Given the description of an element on the screen output the (x, y) to click on. 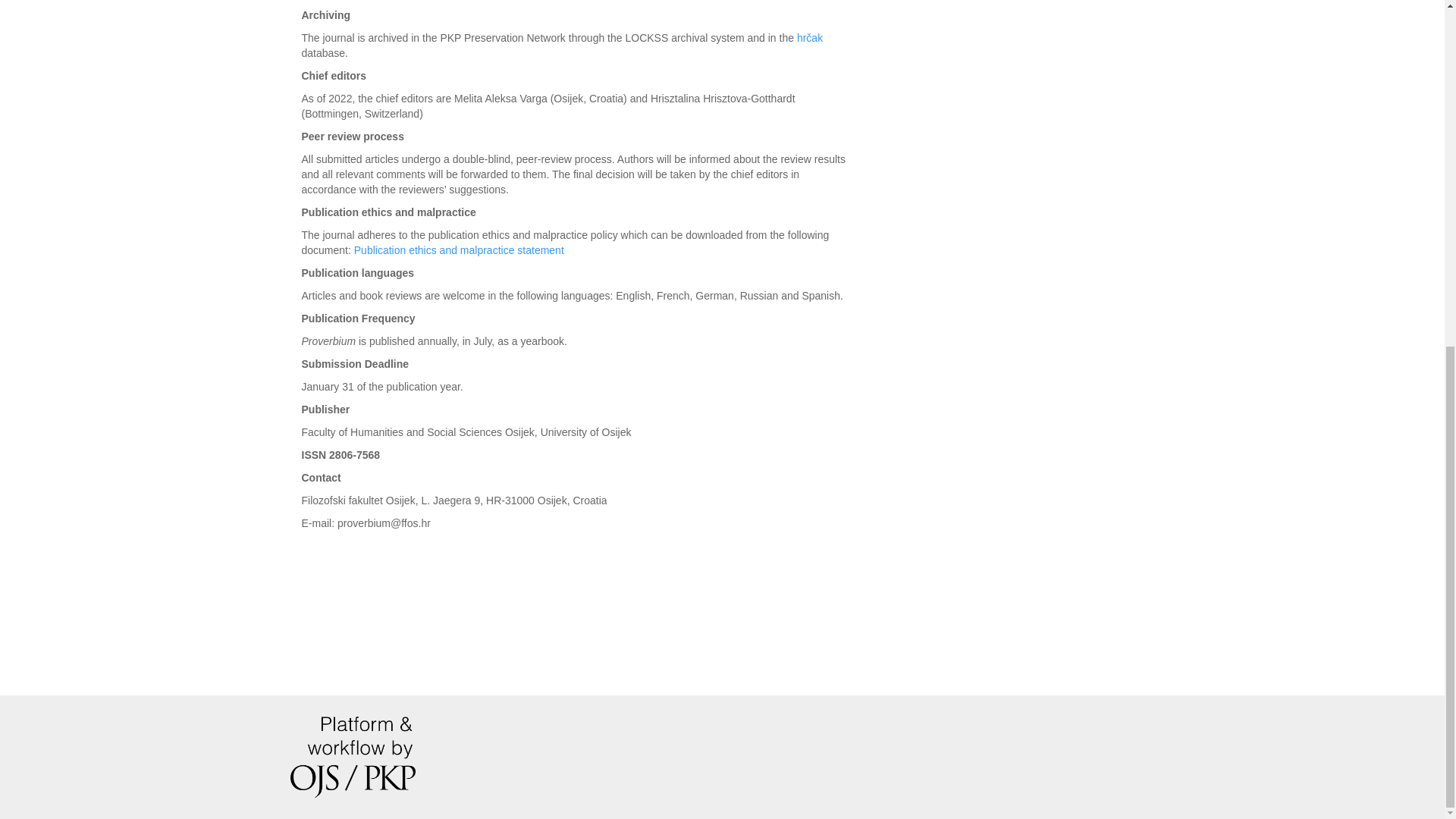
Publication ethics and malpractice statement (458, 250)
